Given the description of an element on the screen output the (x, y) to click on. 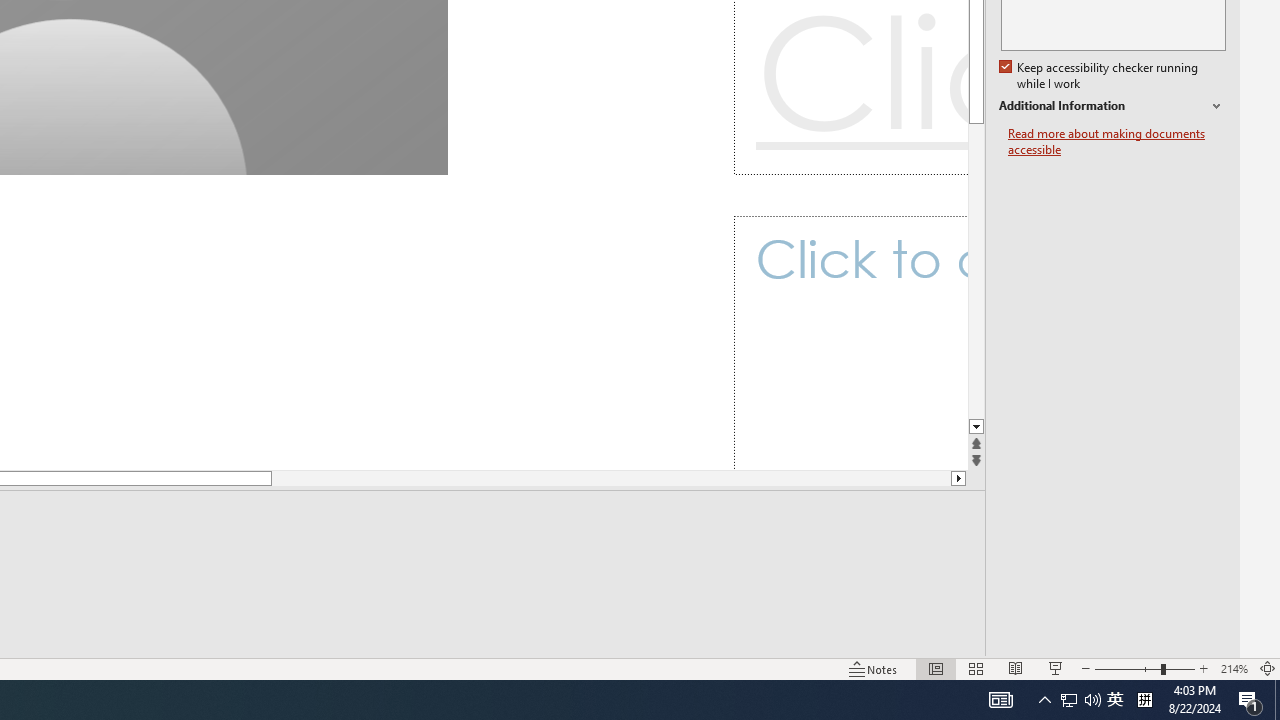
Zoom 214% (1234, 668)
